Given the description of an element on the screen output the (x, y) to click on. 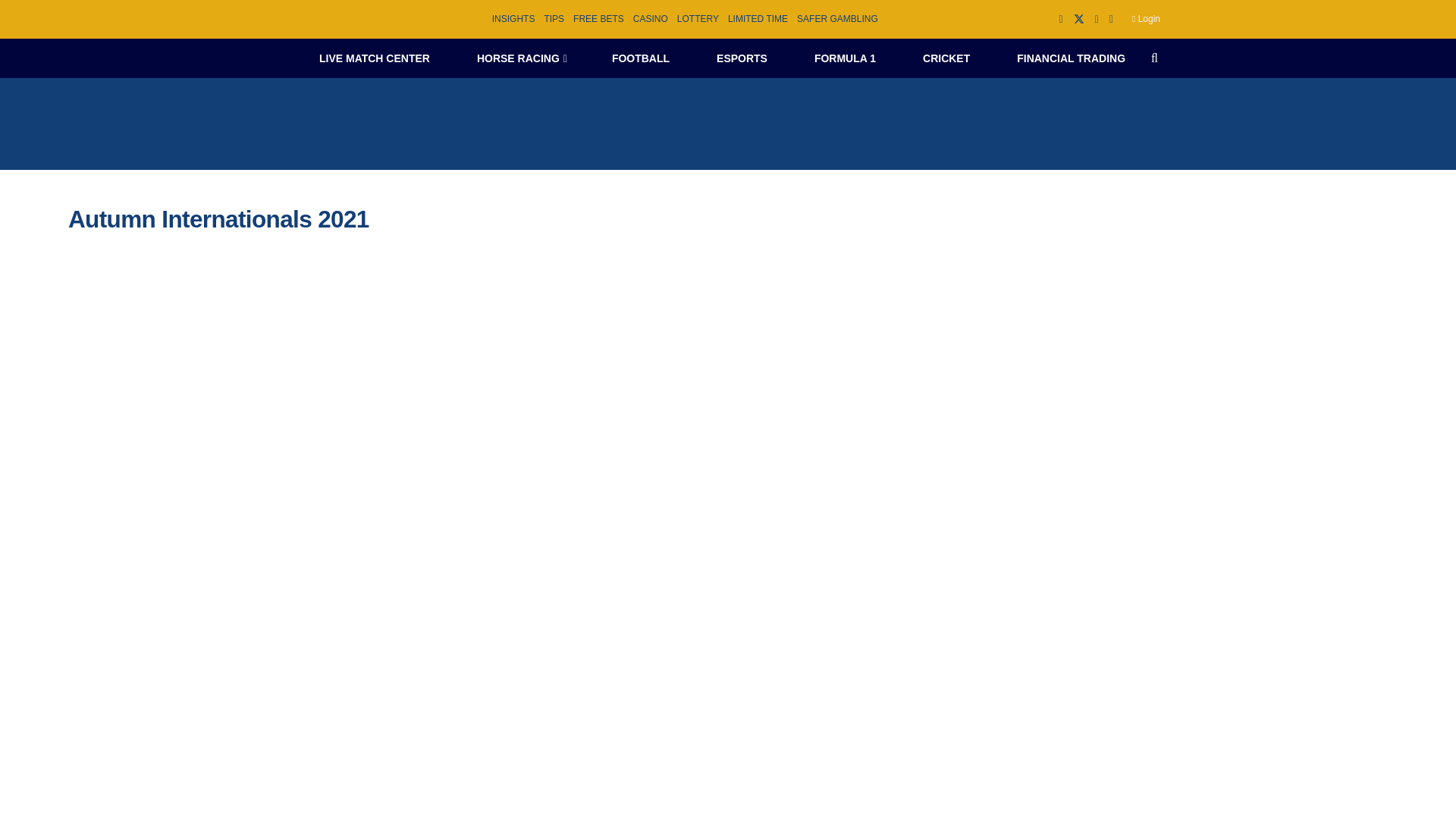
FINANCIAL TRADING (1070, 57)
CASINO (650, 19)
FOOTBALL (640, 57)
FREE BETS (598, 19)
ESPORTS (741, 57)
LIVE MATCH CENTER (373, 57)
INSIGHTS (513, 19)
CRICKET (945, 57)
HORSE RACING (520, 57)
FORMULA 1 (844, 57)
LIMITED TIME (757, 19)
LOTTERY (698, 19)
SAFER GAMBLING (836, 19)
